Given the description of an element on the screen output the (x, y) to click on. 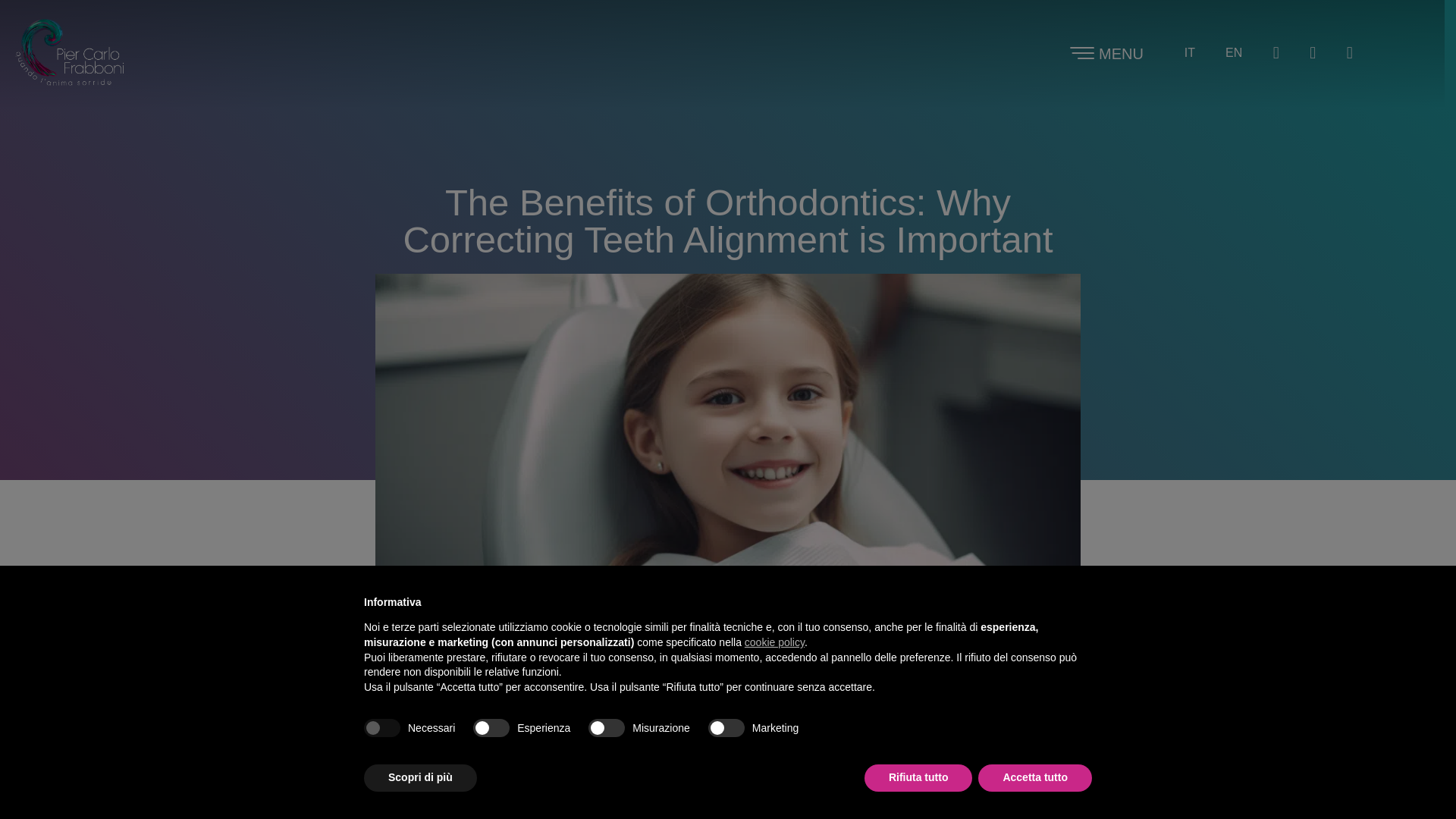
It (1189, 53)
En (1233, 53)
EN (1233, 53)
Orthodontics (482, 617)
false (725, 728)
false (606, 728)
IT (1189, 53)
true (382, 728)
false (491, 728)
MENU (1120, 53)
